Given the description of an element on the screen output the (x, y) to click on. 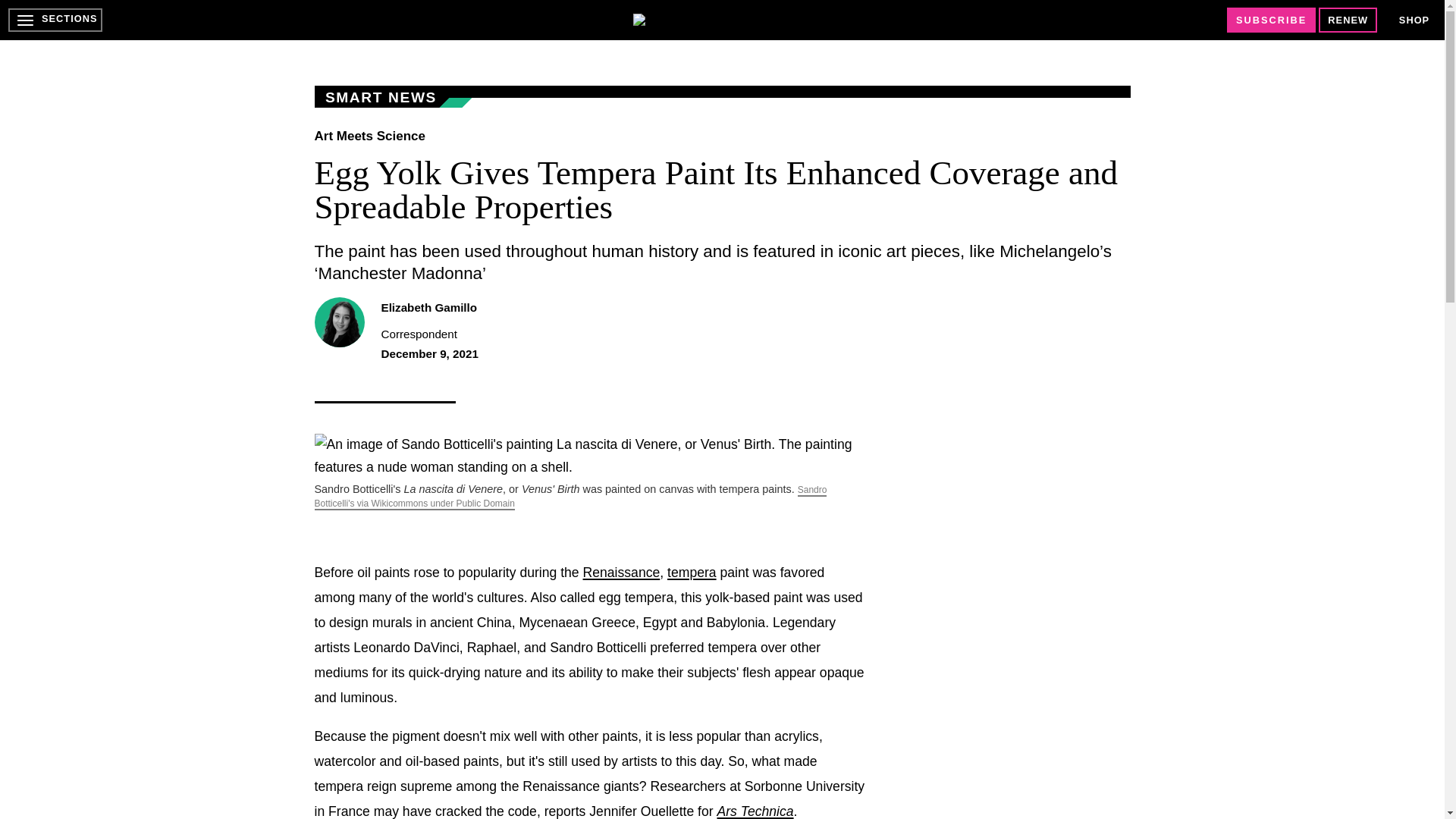
SUBSCRIBE (1271, 19)
SHOP (1414, 19)
RENEW (1348, 19)
SUBSCRIBE (1271, 19)
SECTIONS (55, 19)
SHOP (1413, 19)
RENEW (1347, 19)
